Given the description of an element on the screen output the (x, y) to click on. 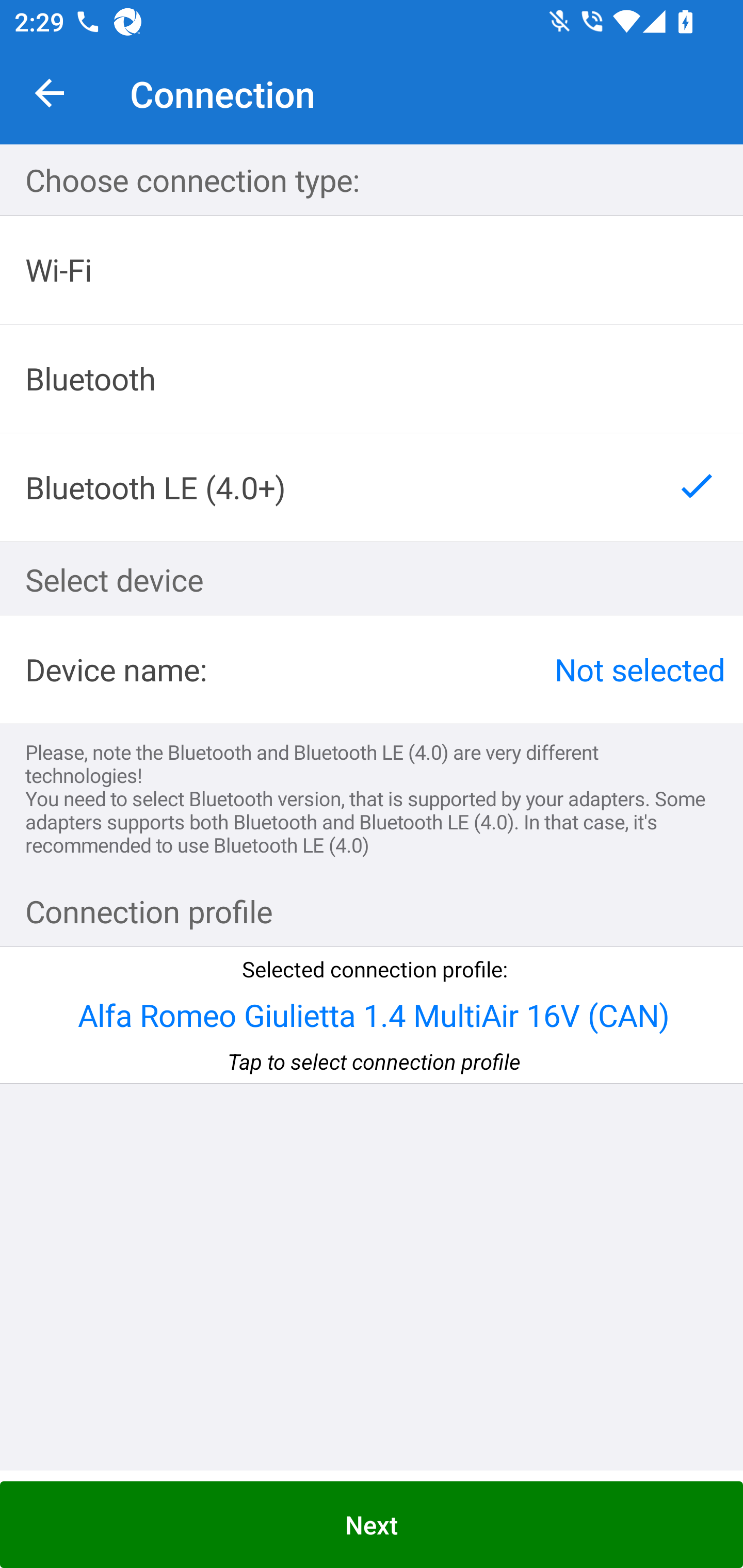
Wi-Fi (371, 270)
Bluetooth (371, 378)
Bluetooth LE (4.0+) (371, 486)
Device name: Not selected (371, 669)
Next (371, 1524)
